Given the description of an element on the screen output the (x, y) to click on. 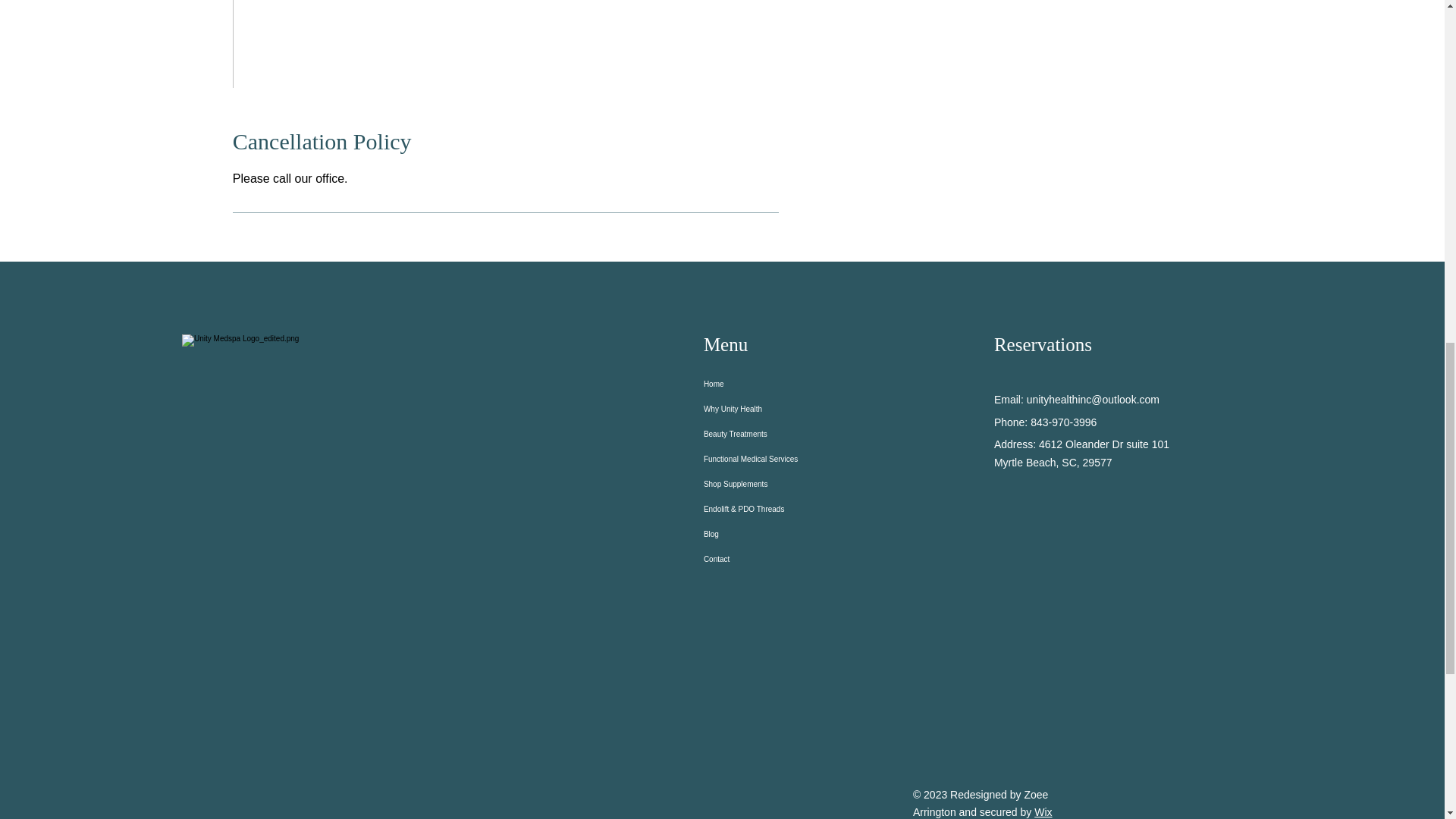
Home (766, 383)
Beauty Treatments (766, 433)
Contact (766, 559)
Shop Supplements (766, 483)
Functional Medical Services (766, 458)
Blog (766, 534)
Why Unity Health (766, 408)
Wix (1042, 811)
